Given the description of an element on the screen output the (x, y) to click on. 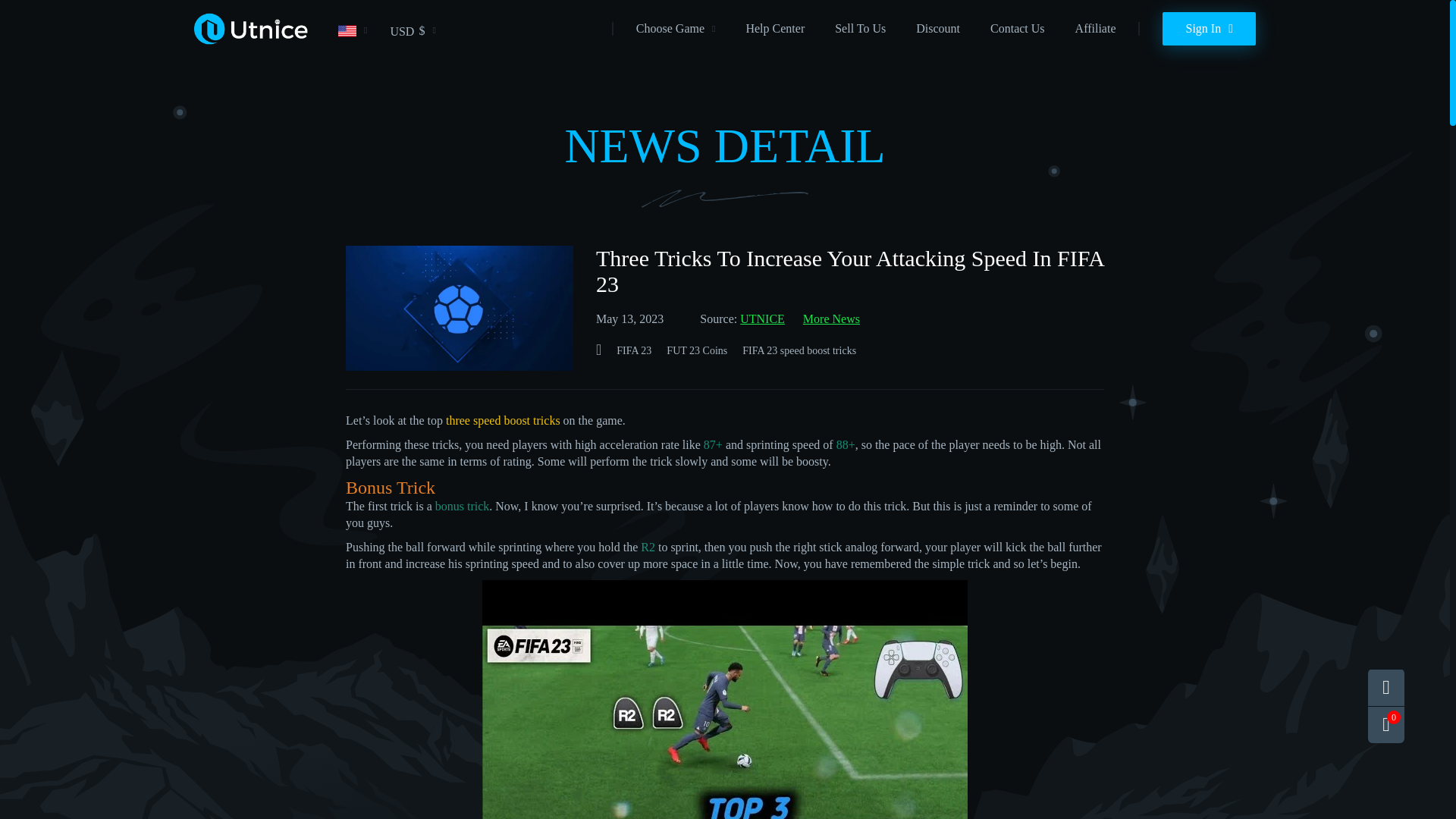
Sign In (1208, 28)
Affiliate (1095, 29)
Discount (937, 29)
FIFA 23 Three Tricks To Increase Your Attacking Speed (724, 699)
Contact Us (1017, 29)
Login (1208, 28)
Sell To Us (859, 29)
UTNICE.com (250, 42)
Help Center (775, 29)
